Given the description of an element on the screen output the (x, y) to click on. 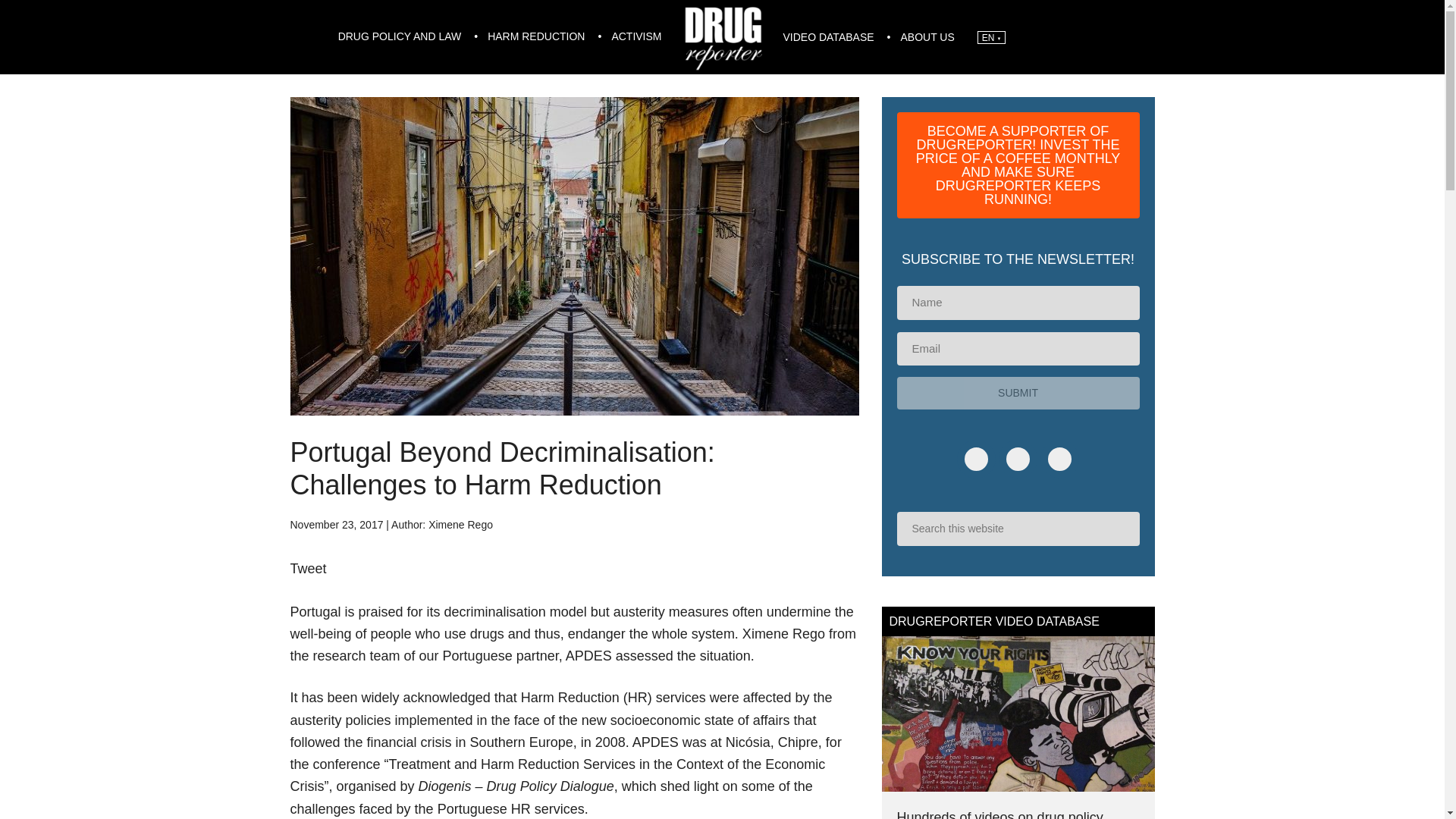
ABOUT US (926, 37)
Submit (1017, 392)
Tweet (307, 568)
VIDEO DATABASE (830, 37)
Ximene Rego (460, 524)
ACTIVISM (635, 36)
DRUG POLICY AND LAW (401, 36)
Drugreporter (721, 36)
HARM REDUCTION (537, 36)
